Given the description of an element on the screen output the (x, y) to click on. 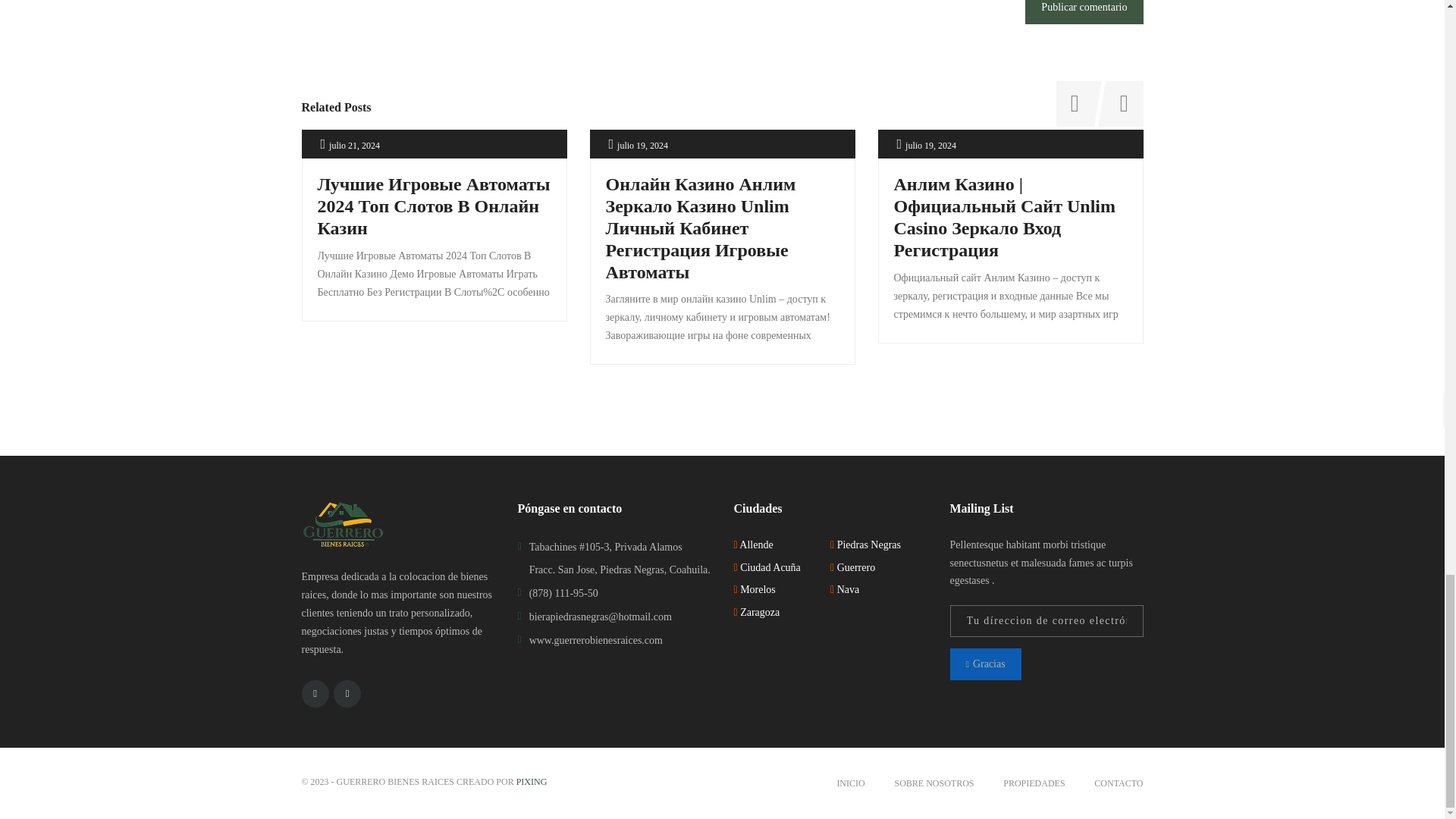
julio 19, 2024 (642, 145)
julio 21, 2024 (354, 145)
julio 19, 2024 (930, 145)
Publicar comentario (1083, 12)
Publicar comentario (1083, 12)
